Given the description of an element on the screen output the (x, y) to click on. 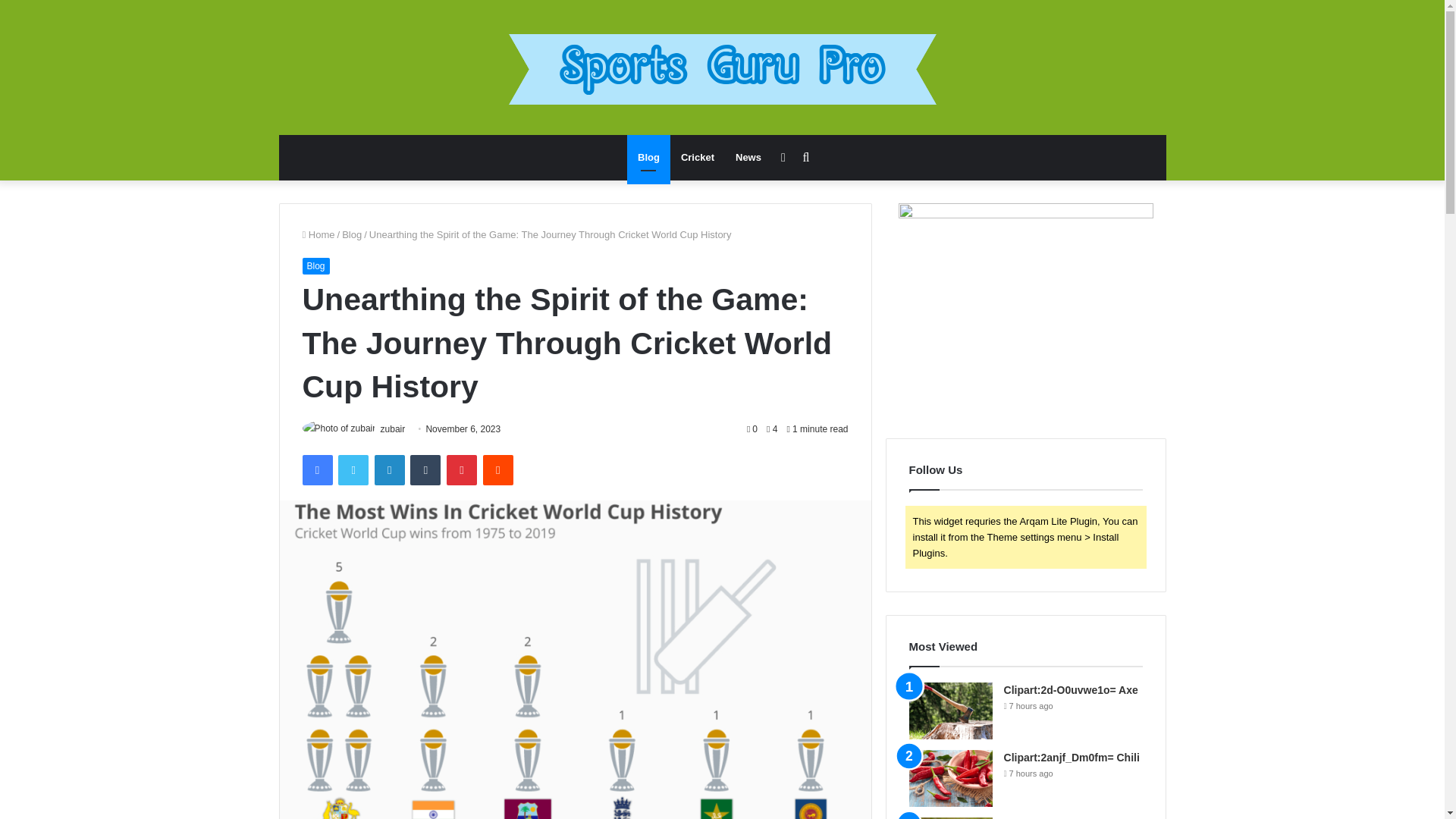
News (748, 157)
Pinterest (461, 470)
Facebook (316, 470)
Twitter (352, 470)
Reddit (498, 470)
Blog (351, 234)
Facebook (316, 470)
Twitter (352, 470)
Tumblr (425, 470)
LinkedIn (389, 470)
Sidebar (782, 157)
Blog (648, 157)
Pinterest (461, 470)
Reddit (498, 470)
Cricket (697, 157)
